Given the description of an element on the screen output the (x, y) to click on. 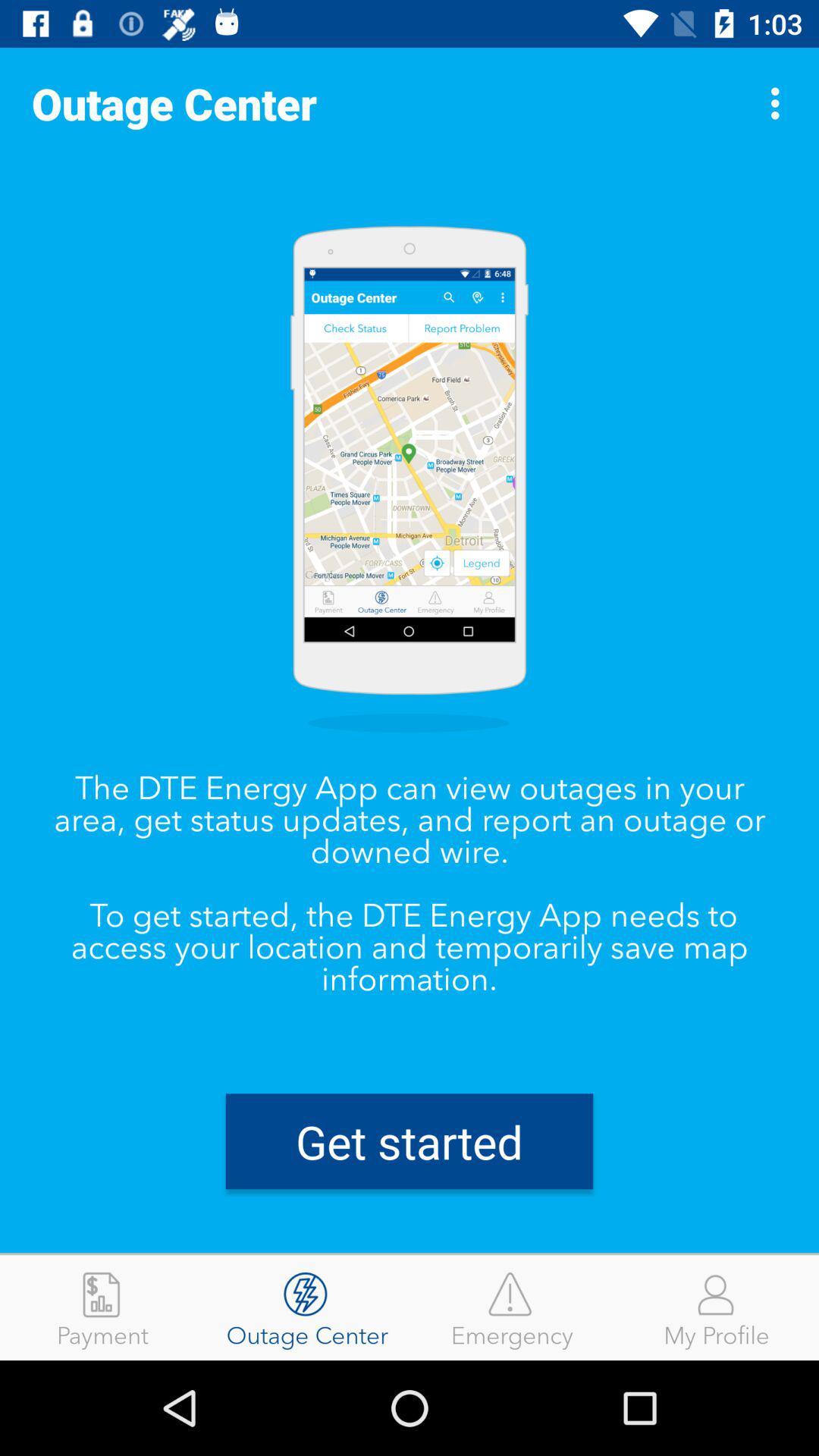
tap the item at the bottom left corner (102, 1307)
